Given the description of an element on the screen output the (x, y) to click on. 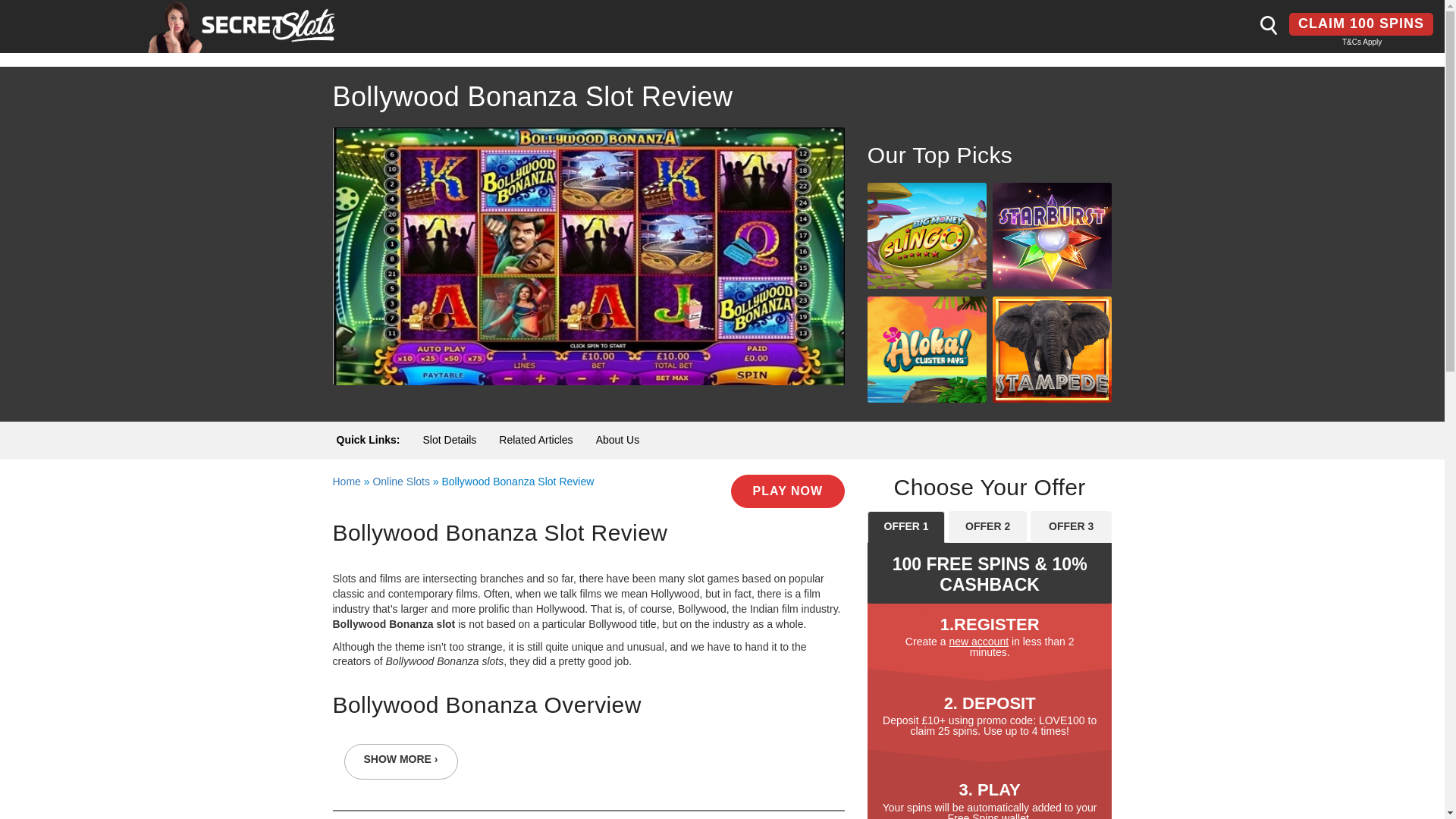
Home (345, 481)
CLAIM 100 SPINS (1360, 24)
Bollywood Bonanza Slot Review (587, 254)
Quick Links: (368, 439)
Rechercher (1268, 24)
Slot Details (450, 439)
About Us (617, 439)
Online Slots (400, 481)
Rechercher (1268, 24)
Related Articles (535, 439)
